Given the description of an element on the screen output the (x, y) to click on. 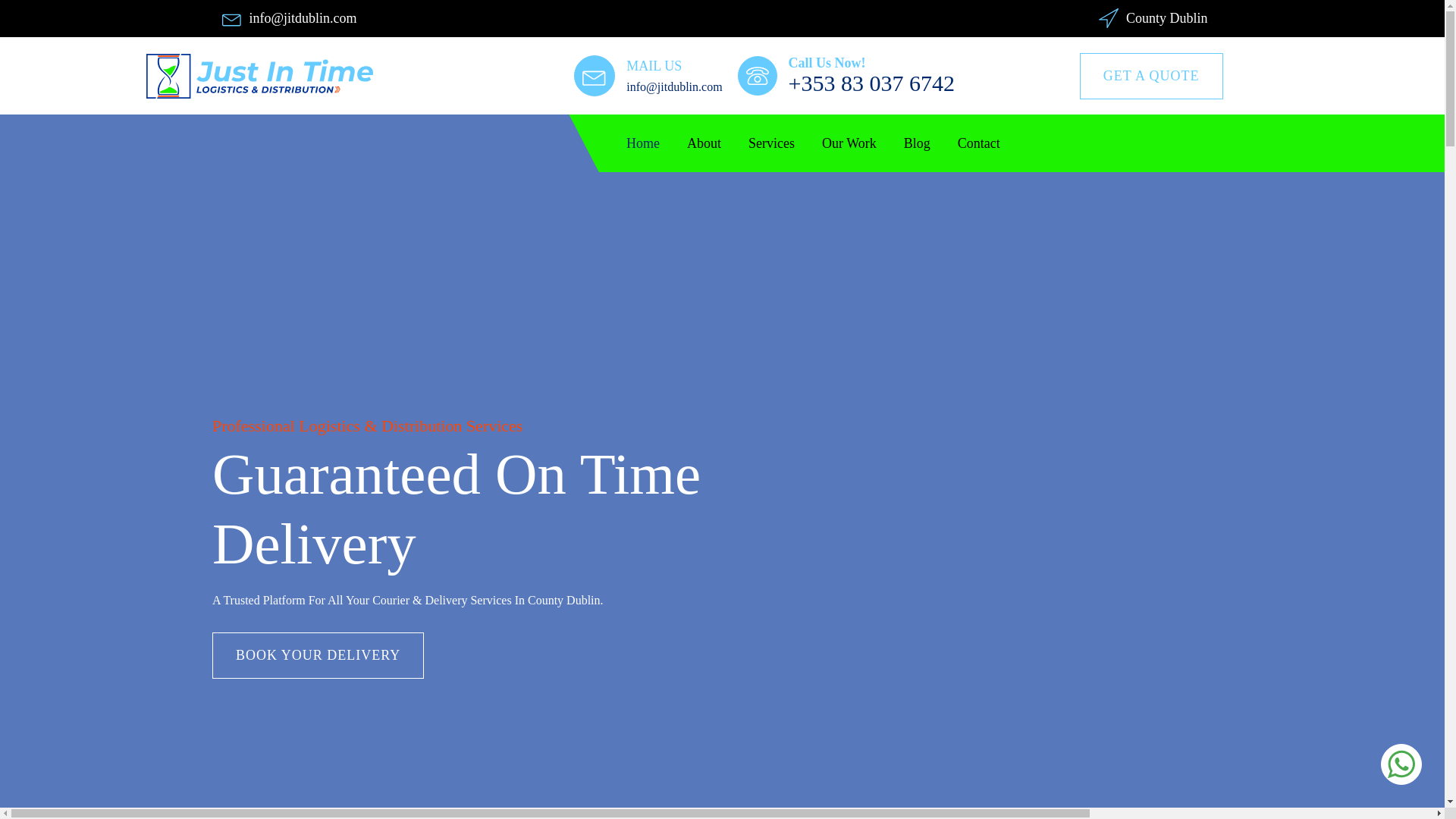
County Dublin (1166, 18)
BOOK YOUR DELIVERY (317, 655)
Contact (992, 143)
Our Work (863, 143)
About (717, 143)
Home (656, 143)
GET A QUOTE (1151, 76)
Blog (931, 143)
Services (785, 143)
